Given the description of an element on the screen output the (x, y) to click on. 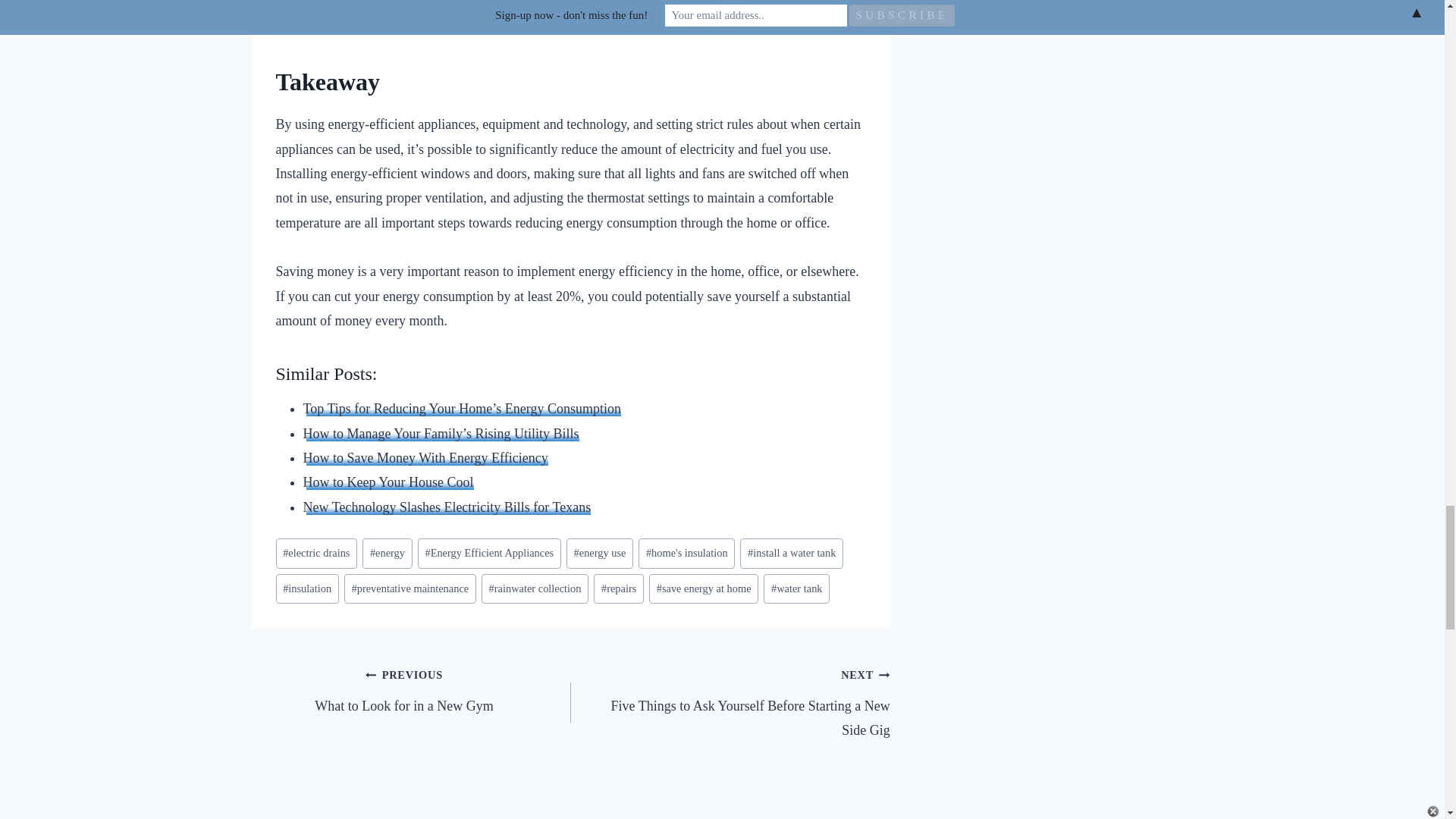
home's insulation (687, 553)
electric drains (317, 553)
rainwater collection (534, 588)
How to Save Money With Energy Efficiency (425, 458)
energy (387, 553)
repairs (618, 588)
install a water tank (791, 553)
energy use (599, 553)
save energy at home (703, 588)
How to Keep Your House Cool (388, 482)
preventative maintenance (409, 588)
insulation (307, 588)
Energy Efficient Appliances (488, 553)
New Technology Slashes Electricity Bills for Texans (446, 507)
